Given the description of an element on the screen output the (x, y) to click on. 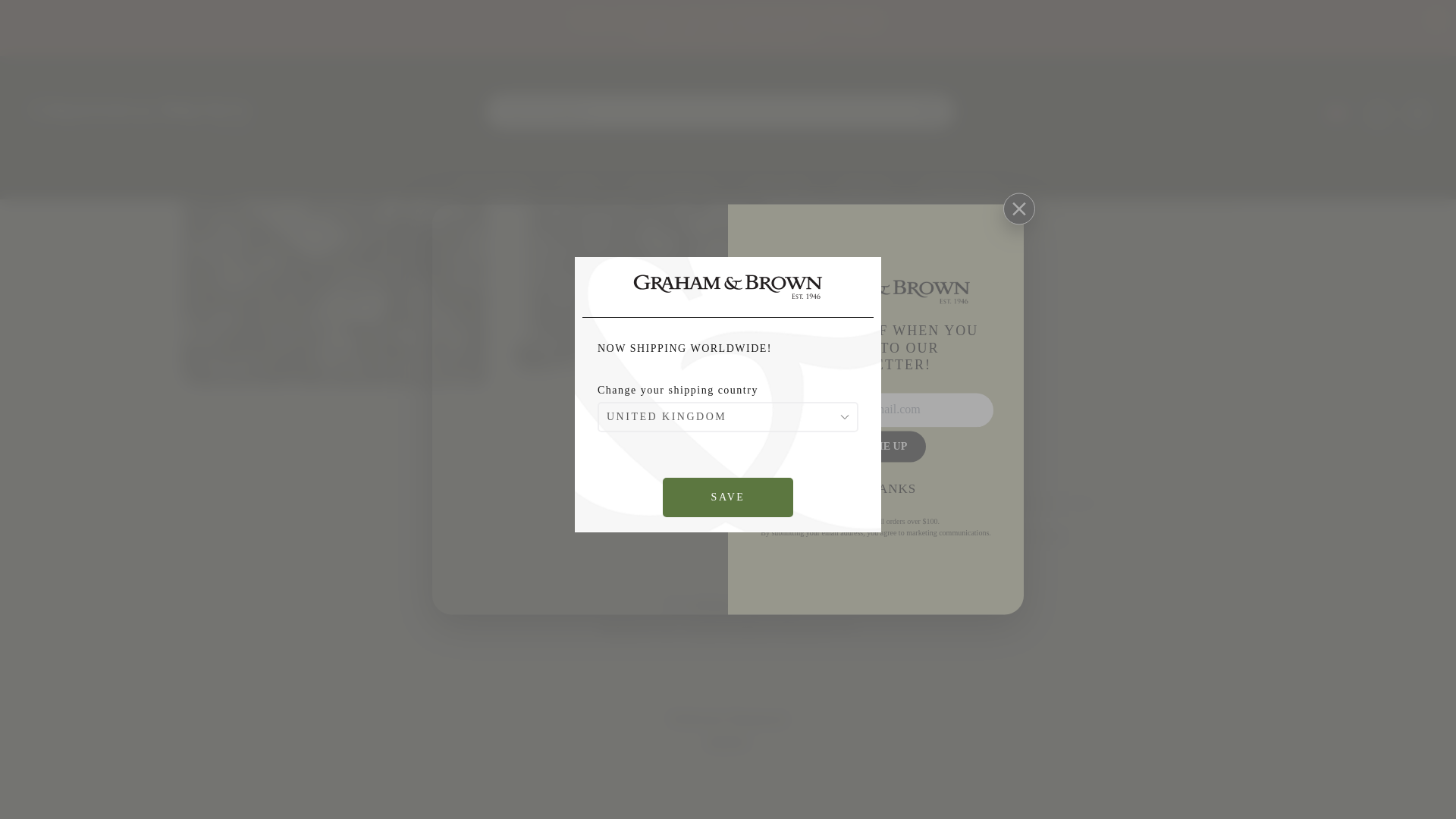
Luna Pepper Wallpaper (486, 36)
